Given the description of an element on the screen output the (x, y) to click on. 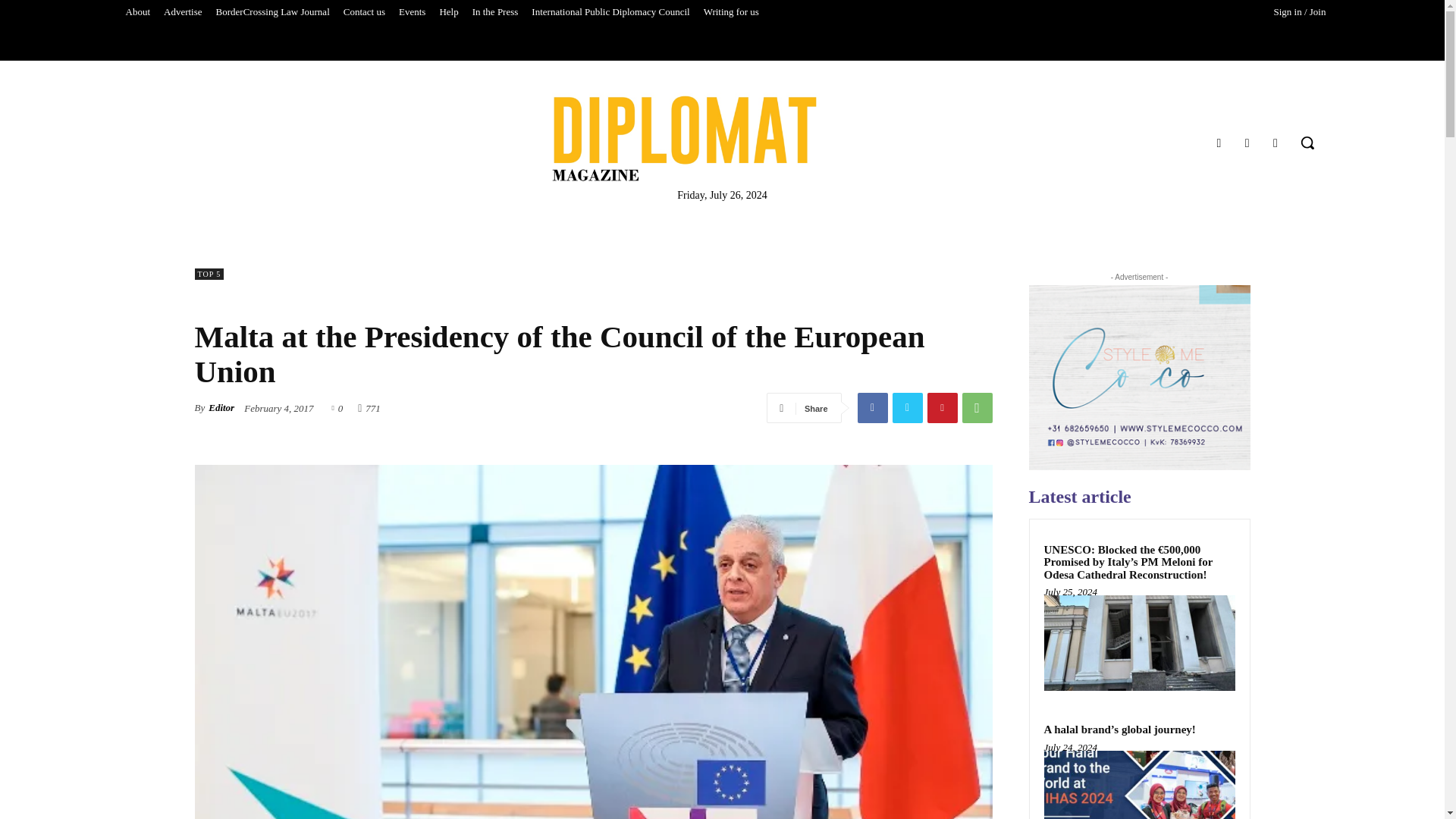
Help (448, 12)
Instagram (1246, 142)
Writing for us (731, 12)
Advertise (183, 12)
Diplomat Magazine (683, 138)
BorderCrossing Law Journal (272, 12)
Events (411, 12)
International Public Diplomacy Council (609, 12)
About (137, 12)
Contact us (363, 12)
Facebook (1218, 142)
Diplomat Magazine (721, 138)
Twitter (1275, 142)
In the Press (495, 12)
